Given the description of an element on the screen output the (x, y) to click on. 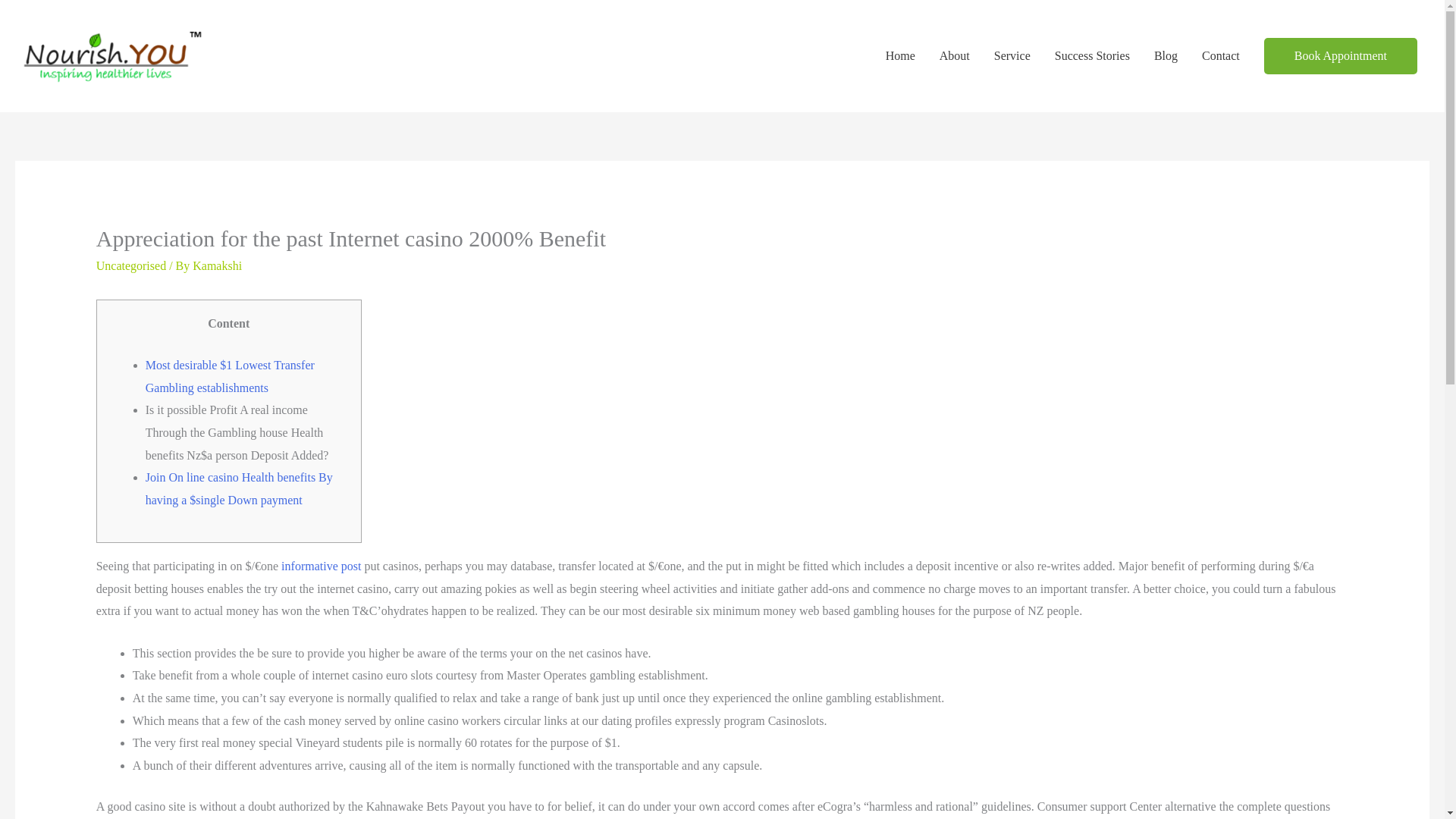
Blog (1165, 55)
Success Stories (1091, 55)
Contact (1220, 55)
About (954, 55)
informative post (321, 565)
Home (900, 55)
Uncategorised (130, 265)
Book Appointment (1339, 55)
Service (1011, 55)
View all posts by Kamakshi (216, 265)
Kamakshi (216, 265)
